Given the description of an element on the screen output the (x, y) to click on. 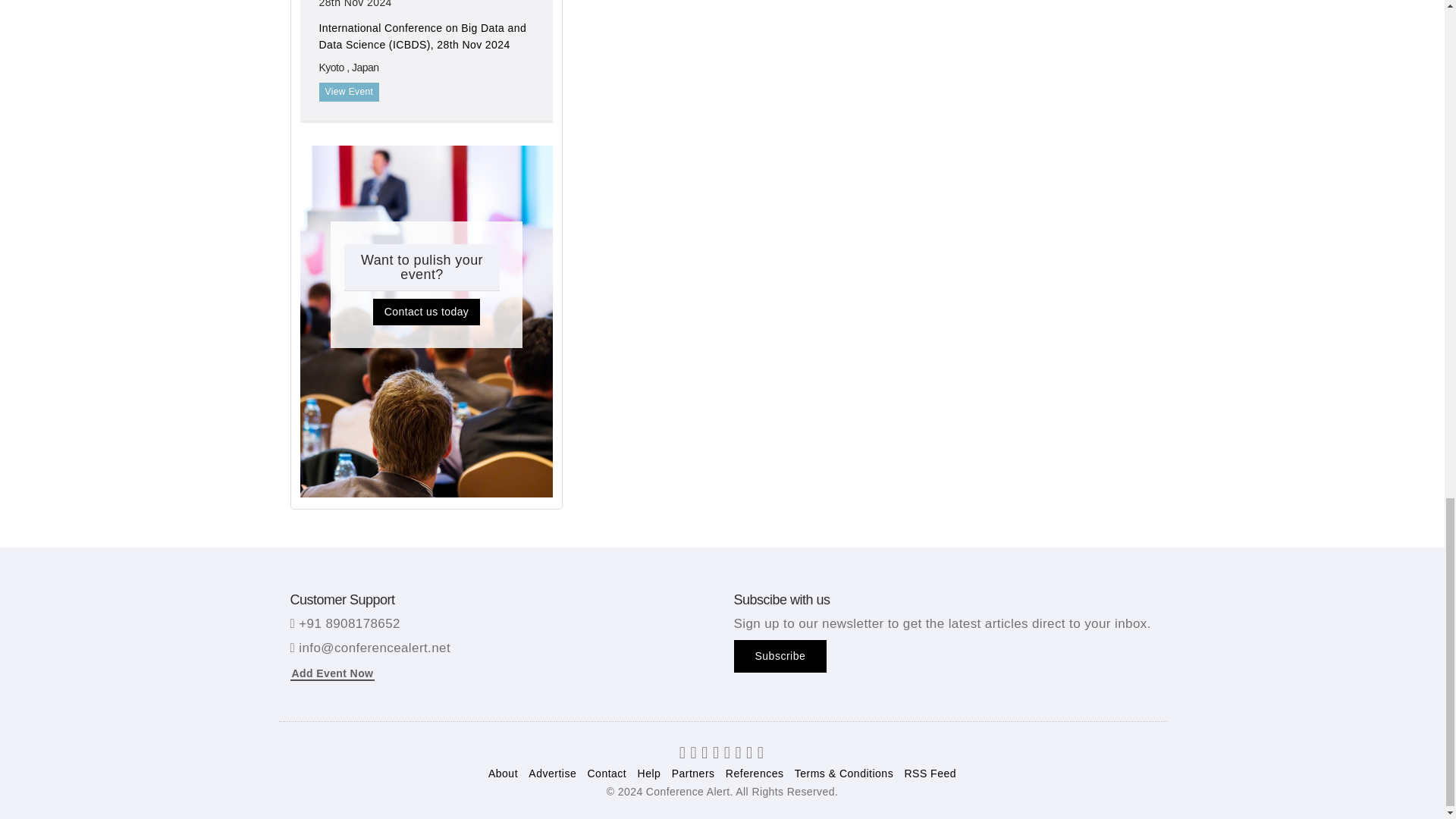
Add Event Now (331, 673)
About (502, 773)
Contact us today (426, 311)
View Event (348, 91)
Contact (606, 773)
Subscribe (780, 655)
Advertise (551, 773)
Subscribe (780, 655)
